Given the description of an element on the screen output the (x, y) to click on. 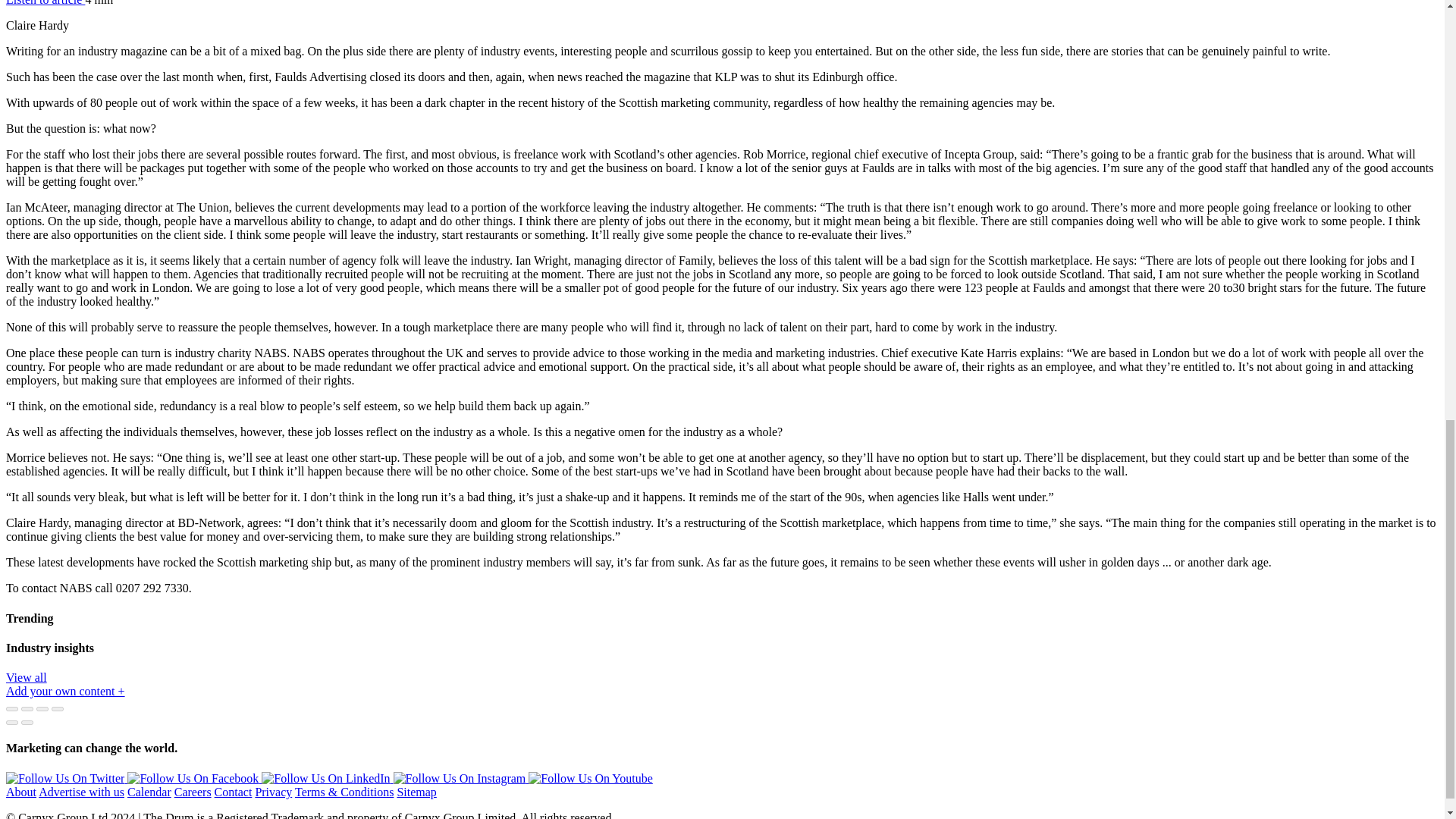
Contact (232, 791)
View all (25, 676)
Calendar (149, 791)
About (20, 791)
Advertise with us (81, 791)
Share (27, 708)
Listen to article (44, 2)
Privacy (273, 791)
Sitemap (415, 791)
Toggle fullscreen (42, 708)
Careers (192, 791)
